Given the description of an element on the screen output the (x, y) to click on. 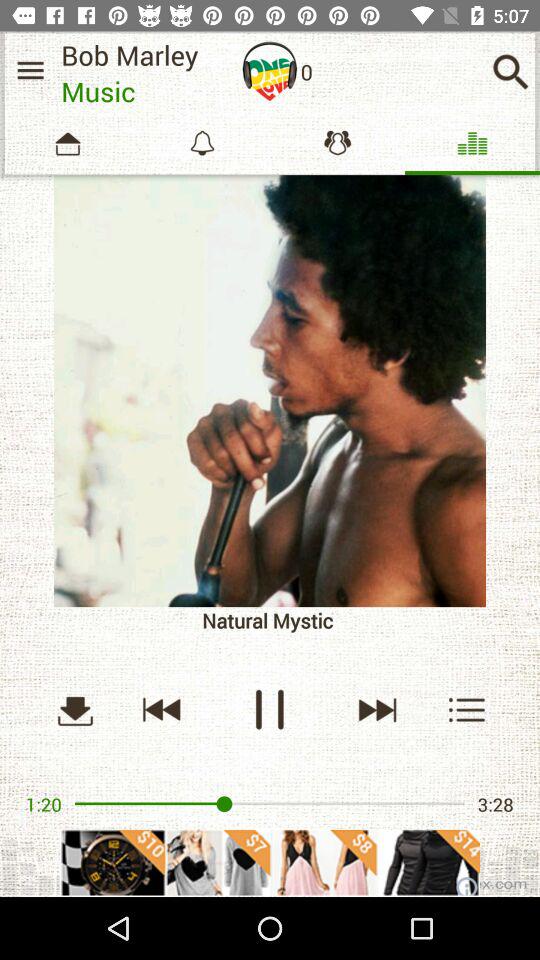
search (510, 71)
